Given the description of an element on the screen output the (x, y) to click on. 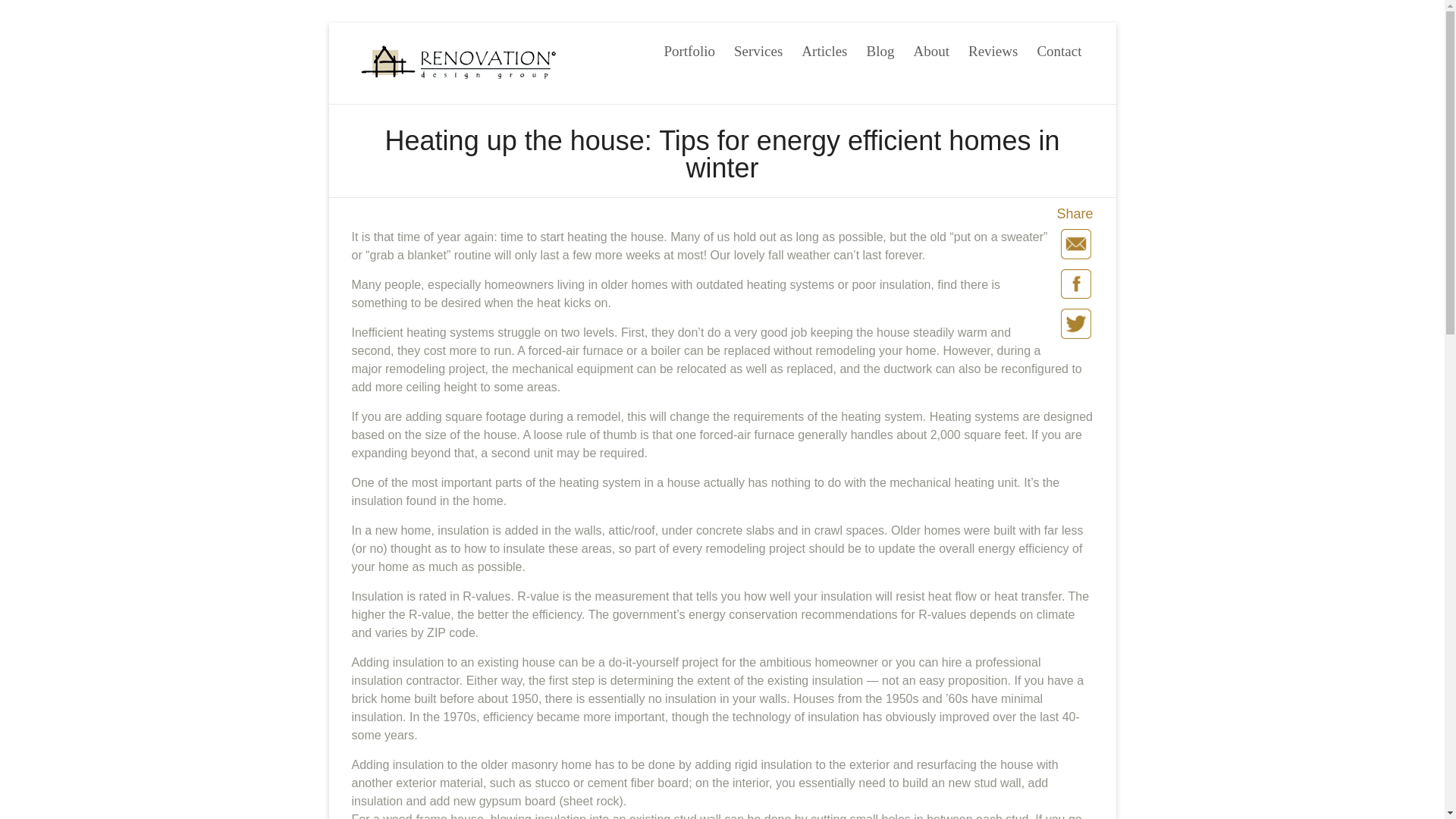
Renovation Design Group (418, 83)
Contact (1058, 47)
About (930, 47)
Blog (879, 47)
Reviews (992, 47)
Services (758, 47)
Articles (824, 47)
Portfolio (688, 47)
Renovation Design Group (418, 83)
